Given the description of an element on the screen output the (x, y) to click on. 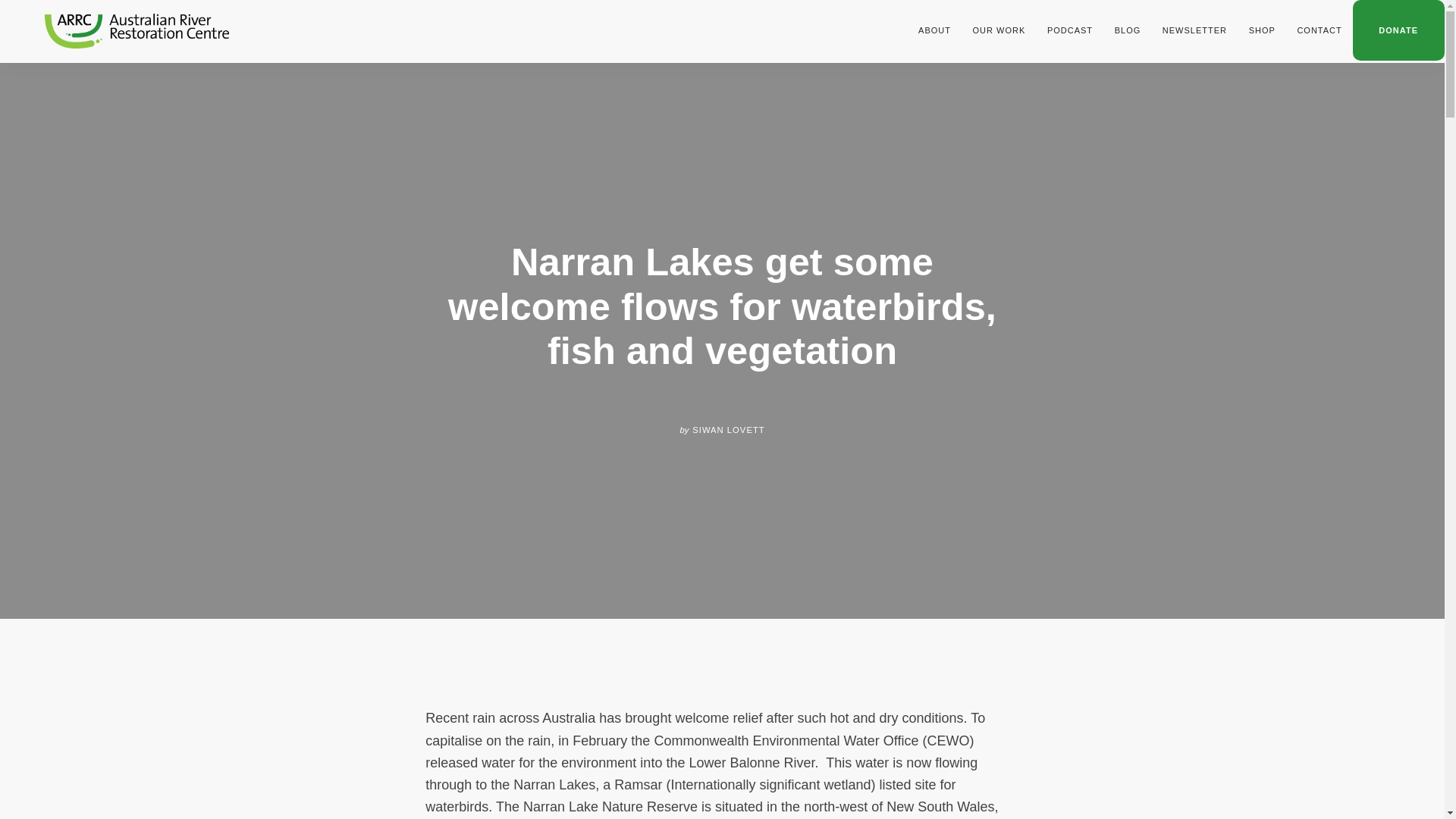
CONTACT (1318, 30)
OUR WORK (997, 30)
NEWSLETTER (1195, 30)
PODCAST (1069, 30)
